Given the description of an element on the screen output the (x, y) to click on. 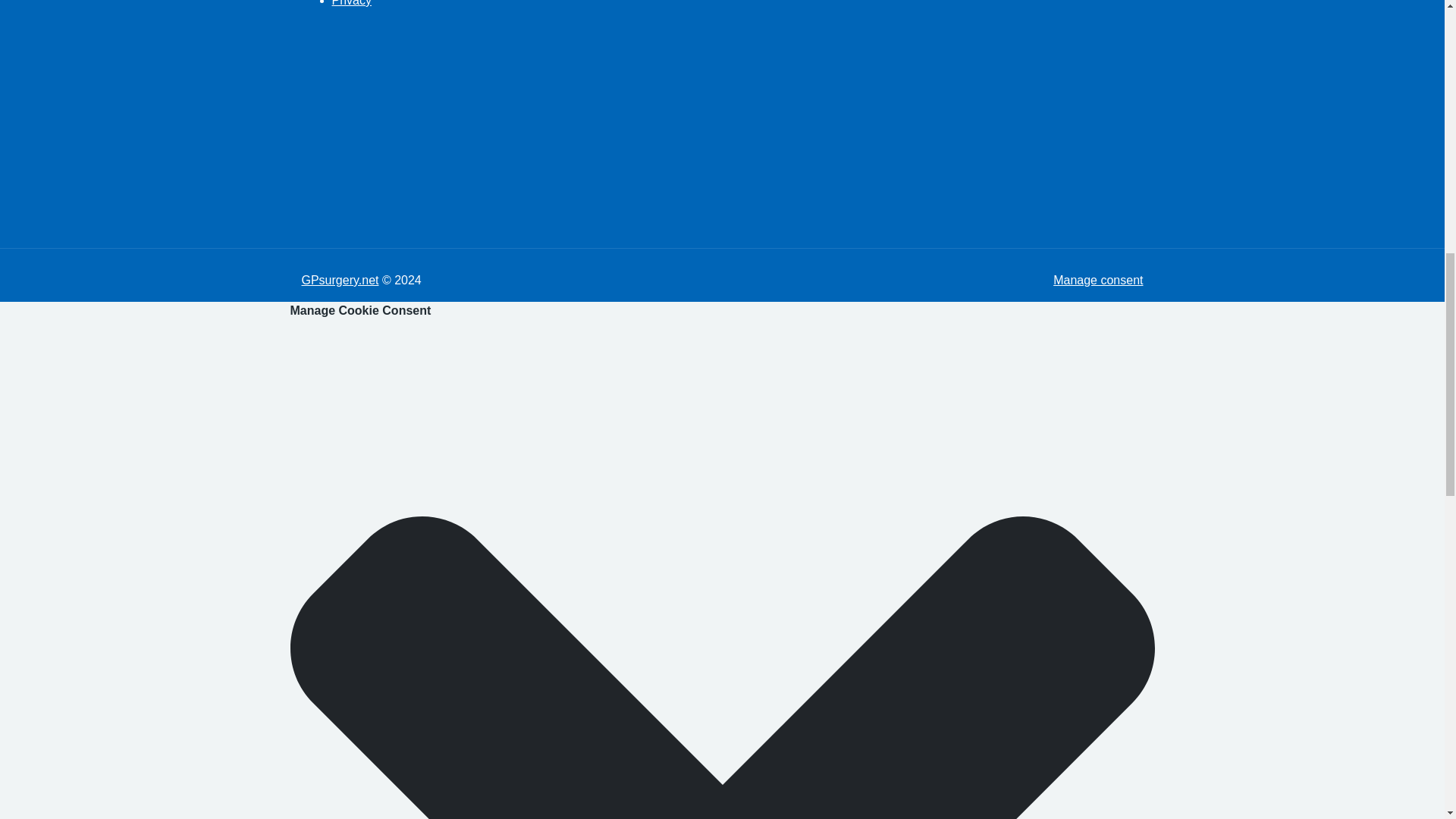
GPsurgery.net (339, 279)
Manage consent (1097, 279)
Privacy (351, 3)
